Given the description of an element on the screen output the (x, y) to click on. 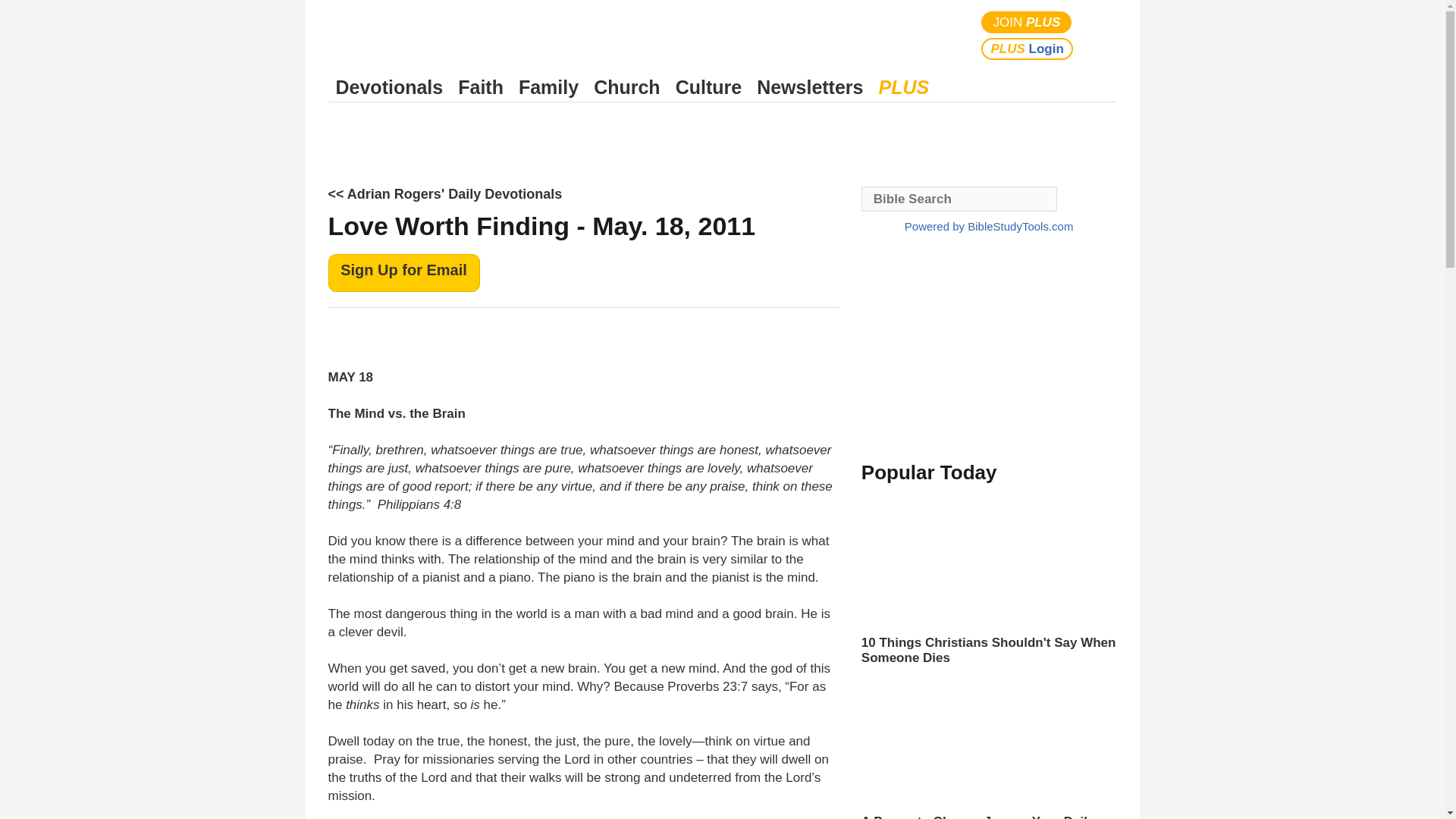
Devotionals (389, 87)
Faith (481, 87)
Plus Login (1026, 48)
Search (1101, 34)
JOIN PLUS (1026, 22)
PLUS Login (1026, 48)
Family (548, 87)
Join Plus (1026, 22)
